Given the description of an element on the screen output the (x, y) to click on. 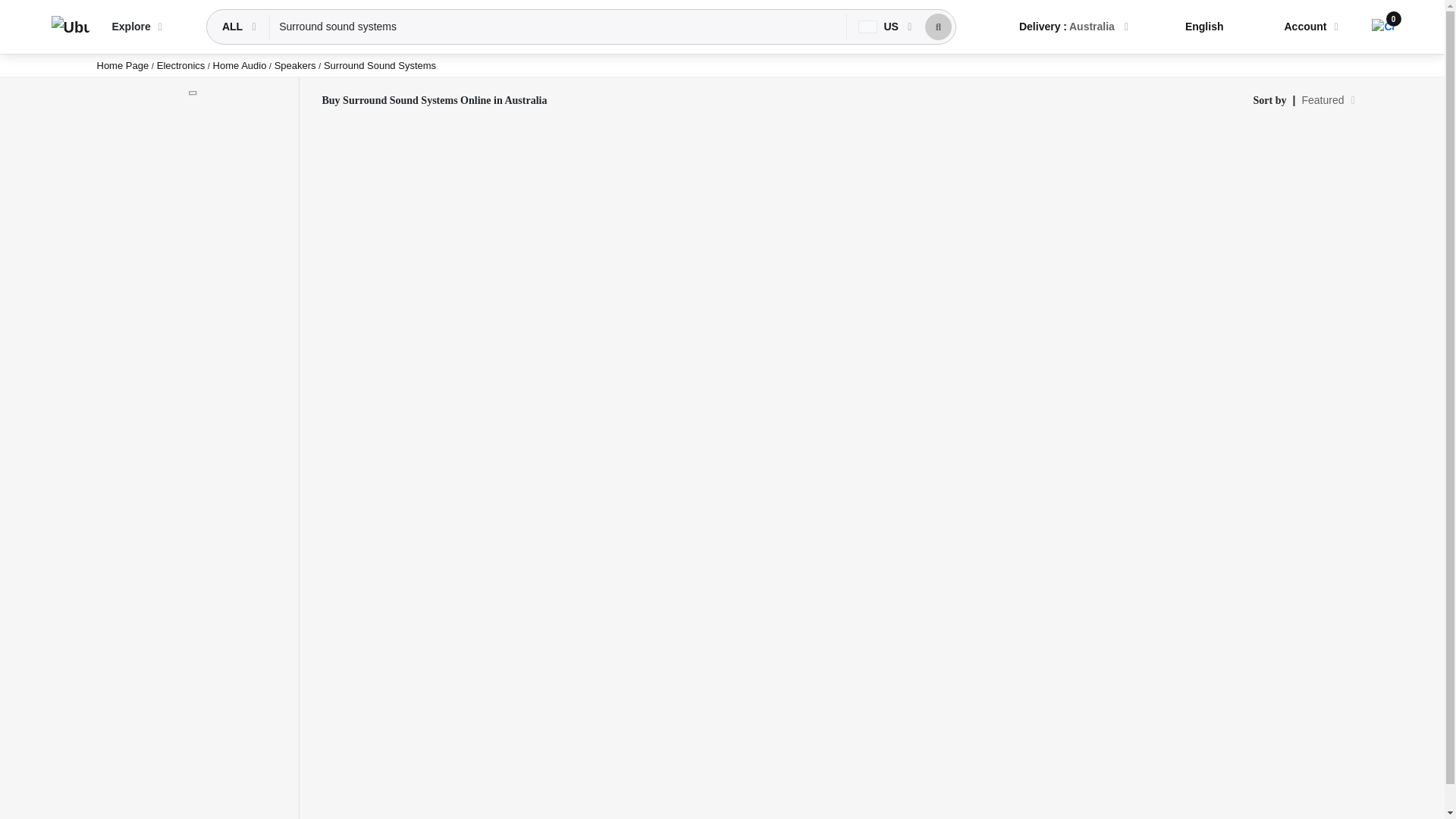
US (879, 26)
Ubuy (69, 27)
Home Audio (240, 65)
0 (1382, 27)
Surround sound systems (558, 26)
Electronics (182, 65)
US (878, 26)
Home Page (123, 65)
ALL (234, 26)
Speakers (296, 65)
